Given the description of an element on the screen output the (x, y) to click on. 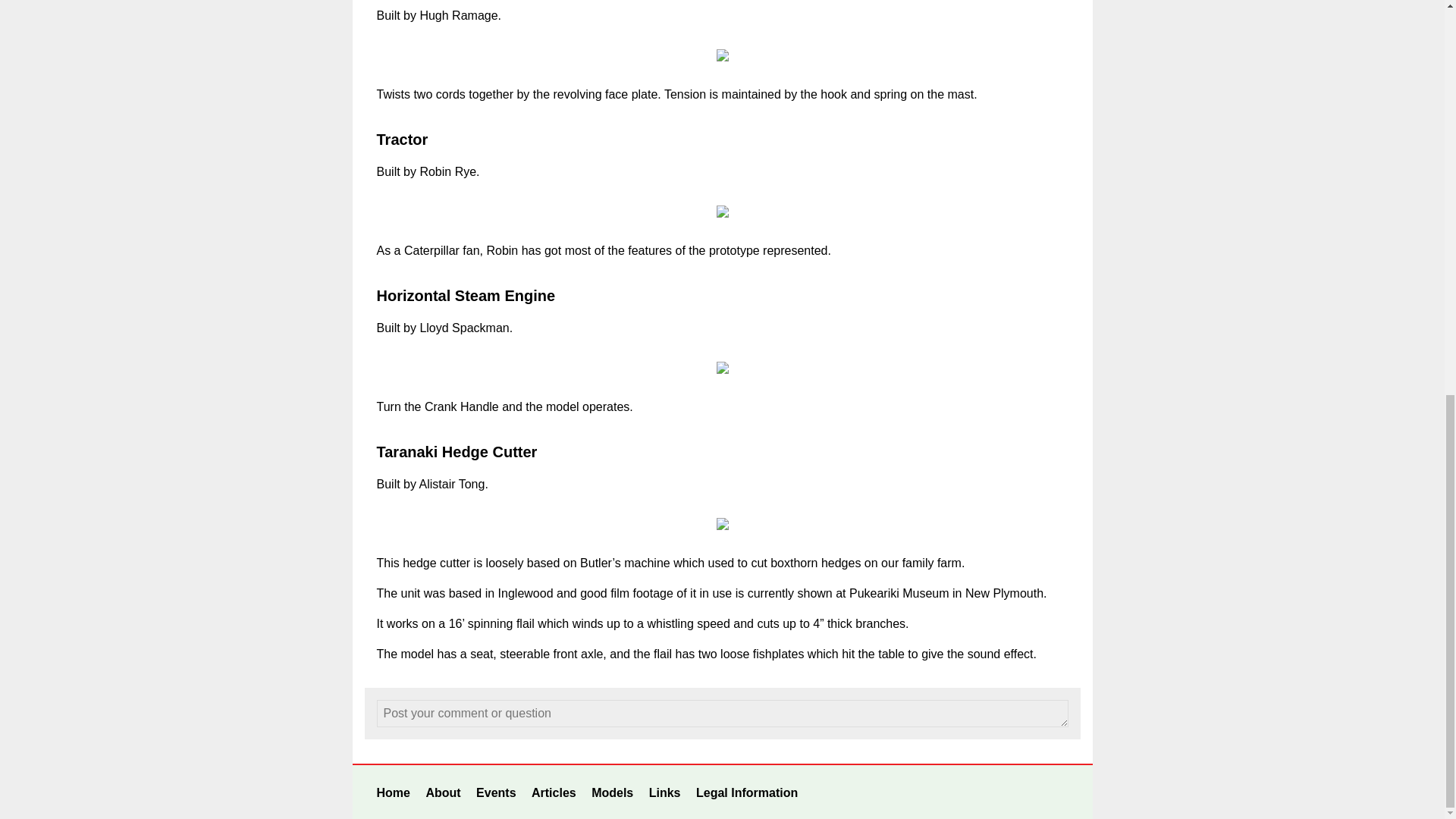
Legal Information (746, 792)
Home (392, 792)
Subscribe to our RSS feed (1055, 792)
Log into Member Services (820, 792)
Like us on Facebook (936, 792)
Subscribe to our YouTube channel (1015, 792)
Links (665, 792)
Copyright, disclaimer, privacy policy and terms of use (746, 792)
Models (612, 792)
Follow us on X (975, 792)
